Given the description of an element on the screen output the (x, y) to click on. 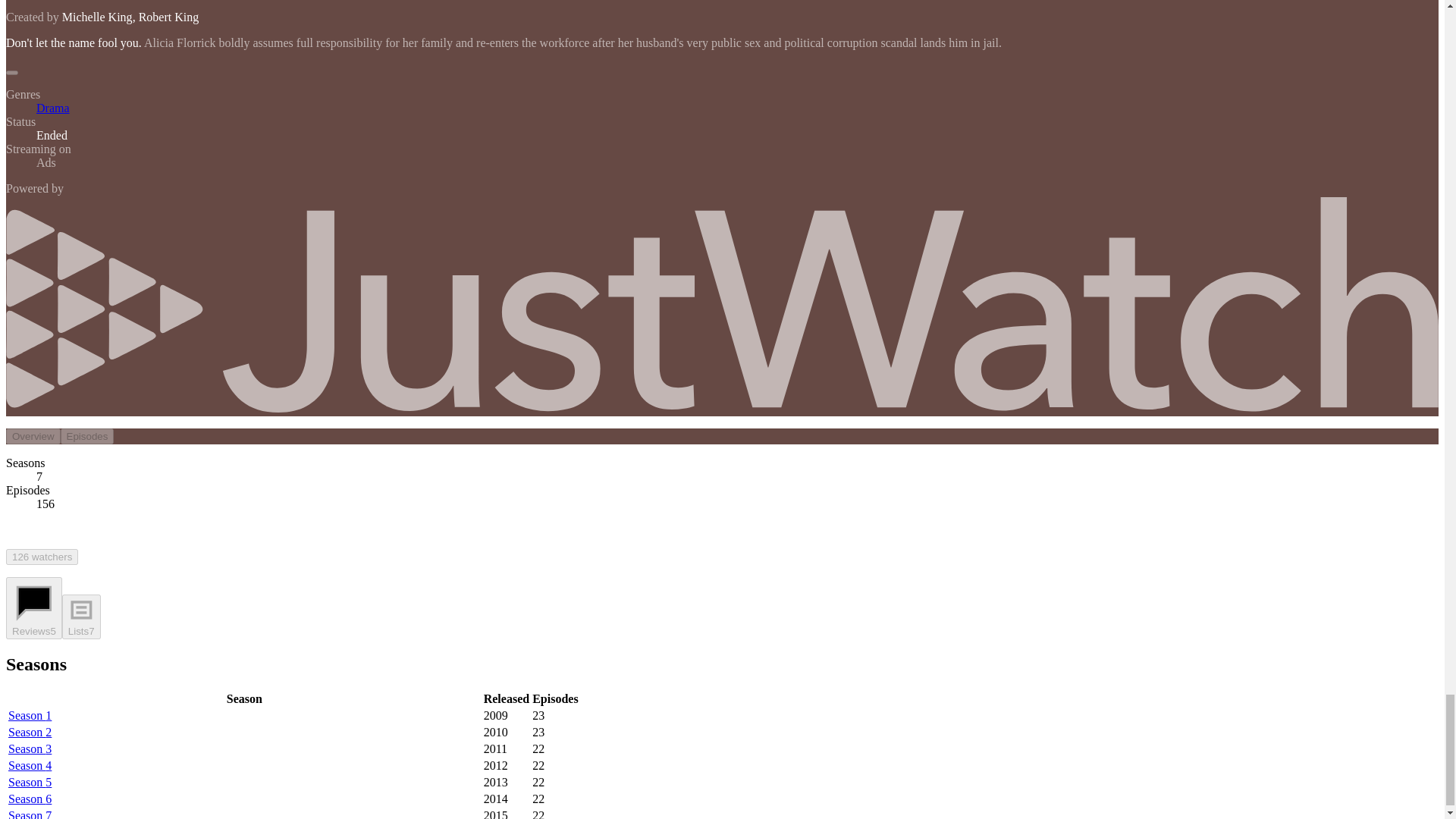
Episodes (88, 436)
Reviews5 (33, 608)
126 watchers (41, 556)
Season 6 (29, 798)
Season 5 (29, 781)
Season 2 (29, 731)
Overview (33, 436)
Season 1 (29, 715)
Season 3 (29, 748)
Drama (52, 107)
